Given the description of an element on the screen output the (x, y) to click on. 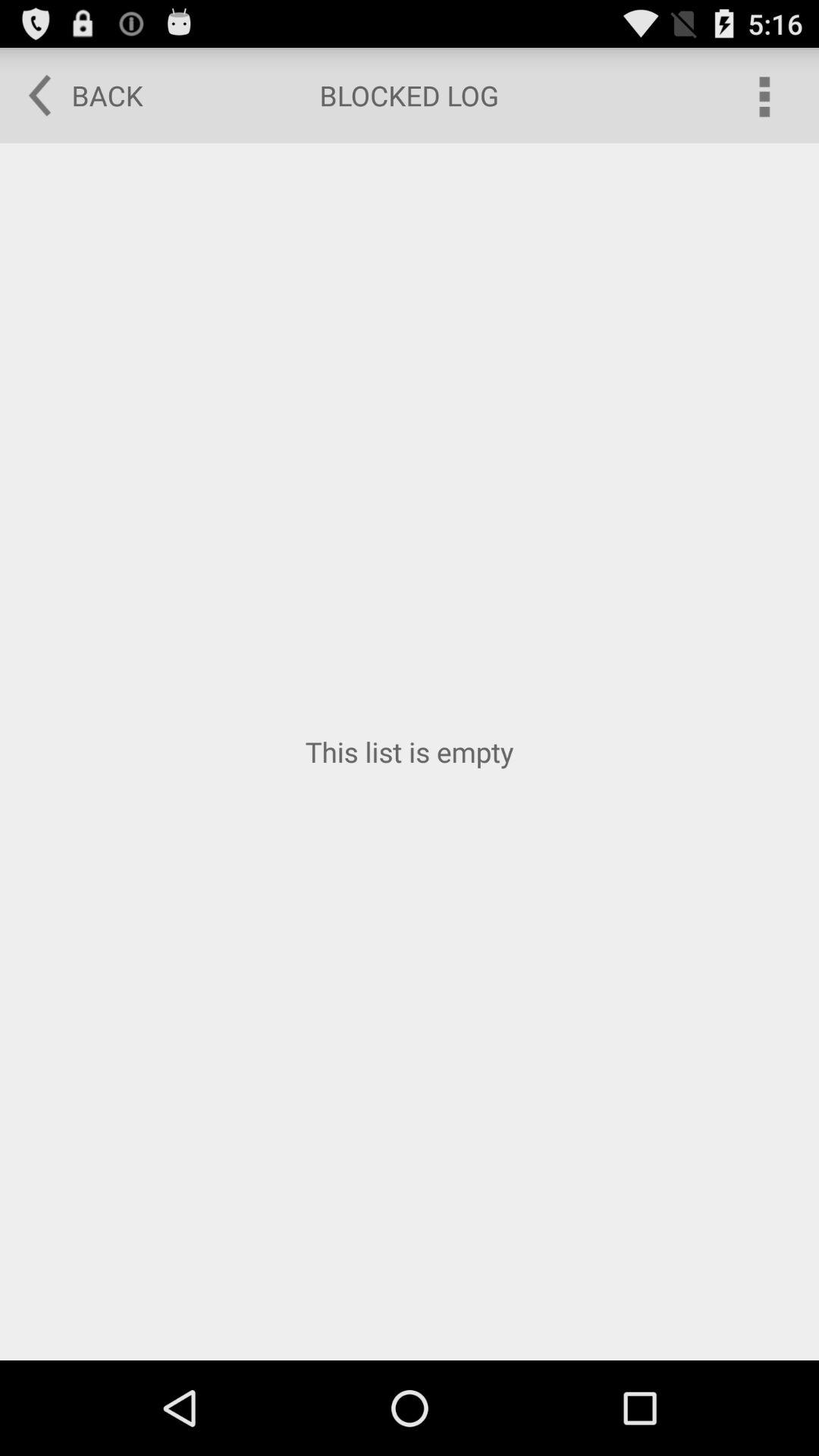
open app above the this list is item (763, 95)
